Given the description of an element on the screen output the (x, y) to click on. 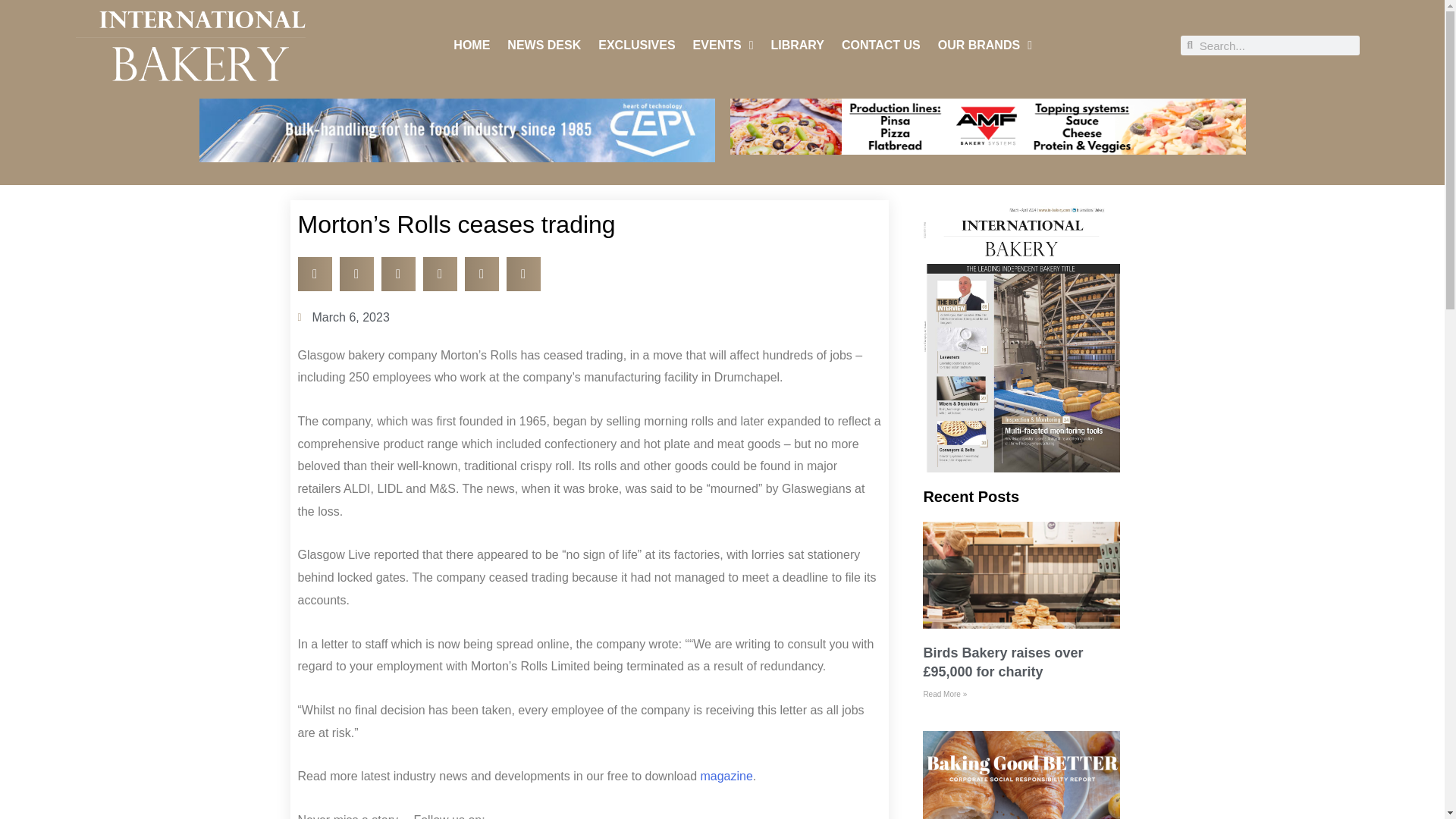
March 6, 2023 (342, 317)
magazine (726, 775)
OUR BRANDS (984, 45)
HOME (470, 45)
NEWS DESK (543, 45)
CONTACT US (880, 45)
EVENTS (723, 45)
LIBRARY (797, 45)
EXCLUSIVES (636, 45)
